Given the description of an element on the screen output the (x, y) to click on. 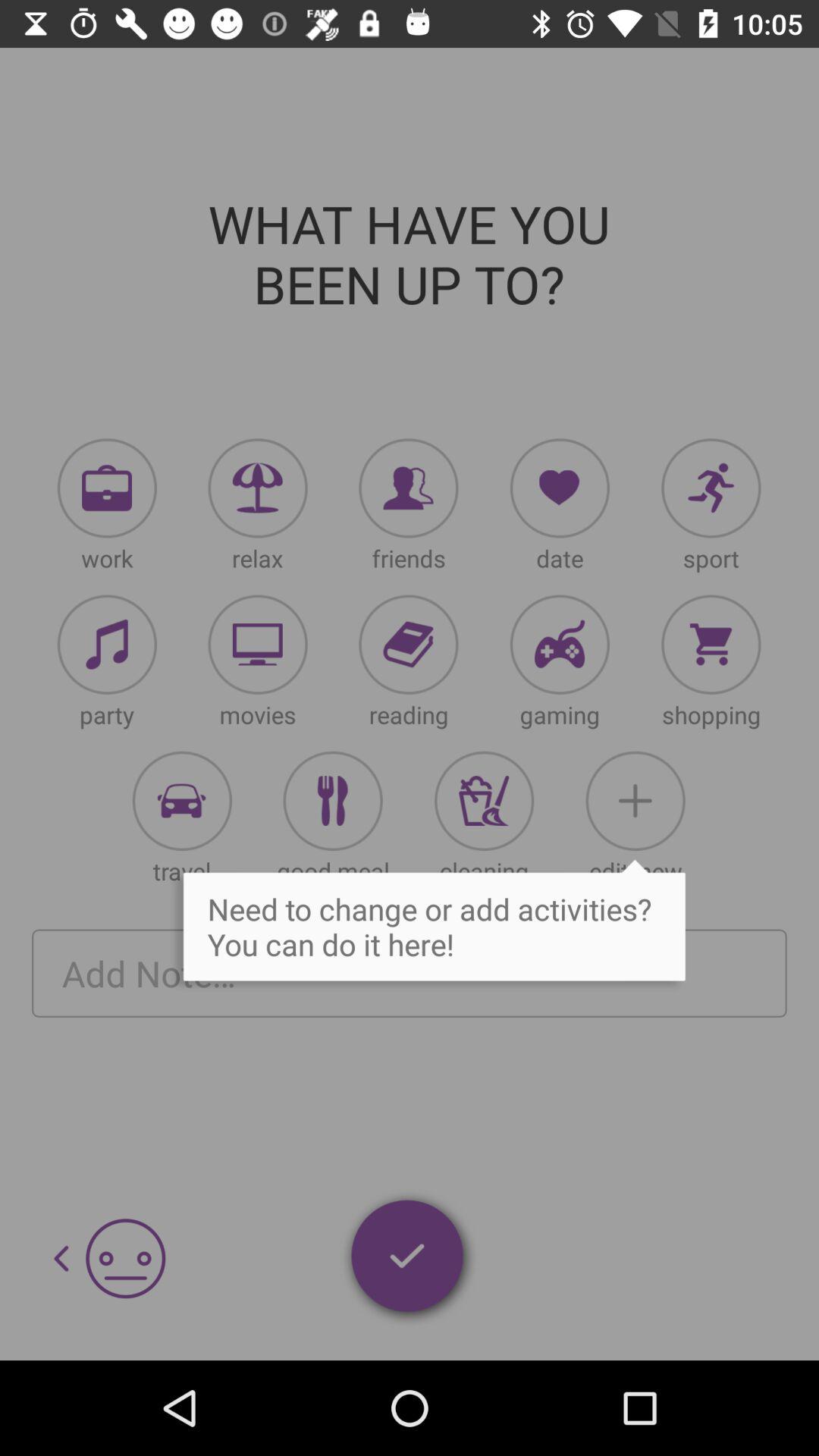
add reading (408, 644)
